Given the description of an element on the screen output the (x, y) to click on. 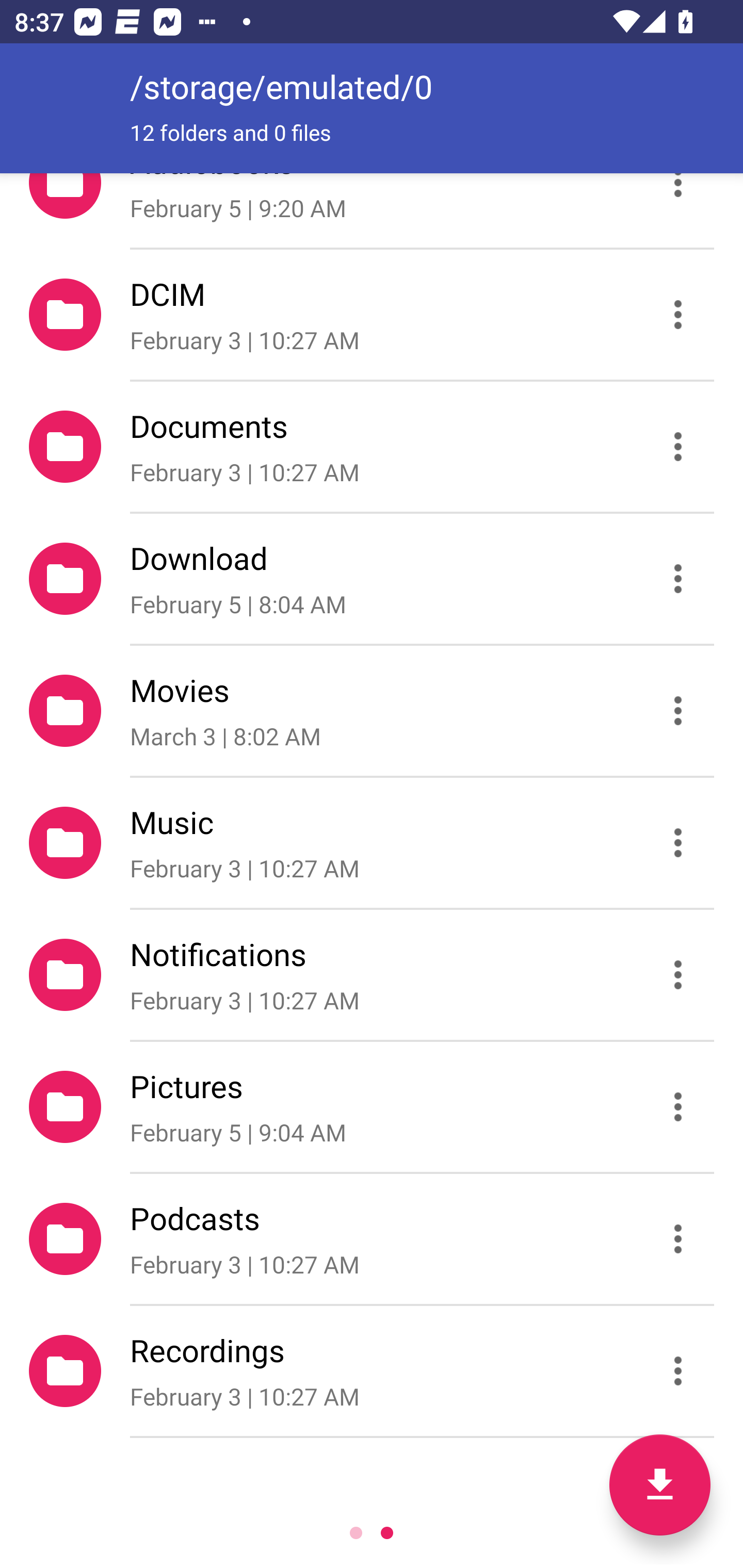
Audiobooks February 5 | 9:20 AM (371, 210)
DCIM February 3 | 10:27 AM (371, 314)
Documents February 3 | 10:27 AM (371, 446)
Download February 5 | 8:04 AM (371, 579)
Movies March 3 | 8:02 AM (371, 711)
Music February 3 | 10:27 AM (371, 842)
Notifications February 3 | 10:27 AM (371, 974)
Pictures February 5 | 9:04 AM (371, 1106)
Podcasts February 3 | 10:27 AM (371, 1239)
Recordings February 3 | 10:27 AM (371, 1371)
